Given the description of an element on the screen output the (x, y) to click on. 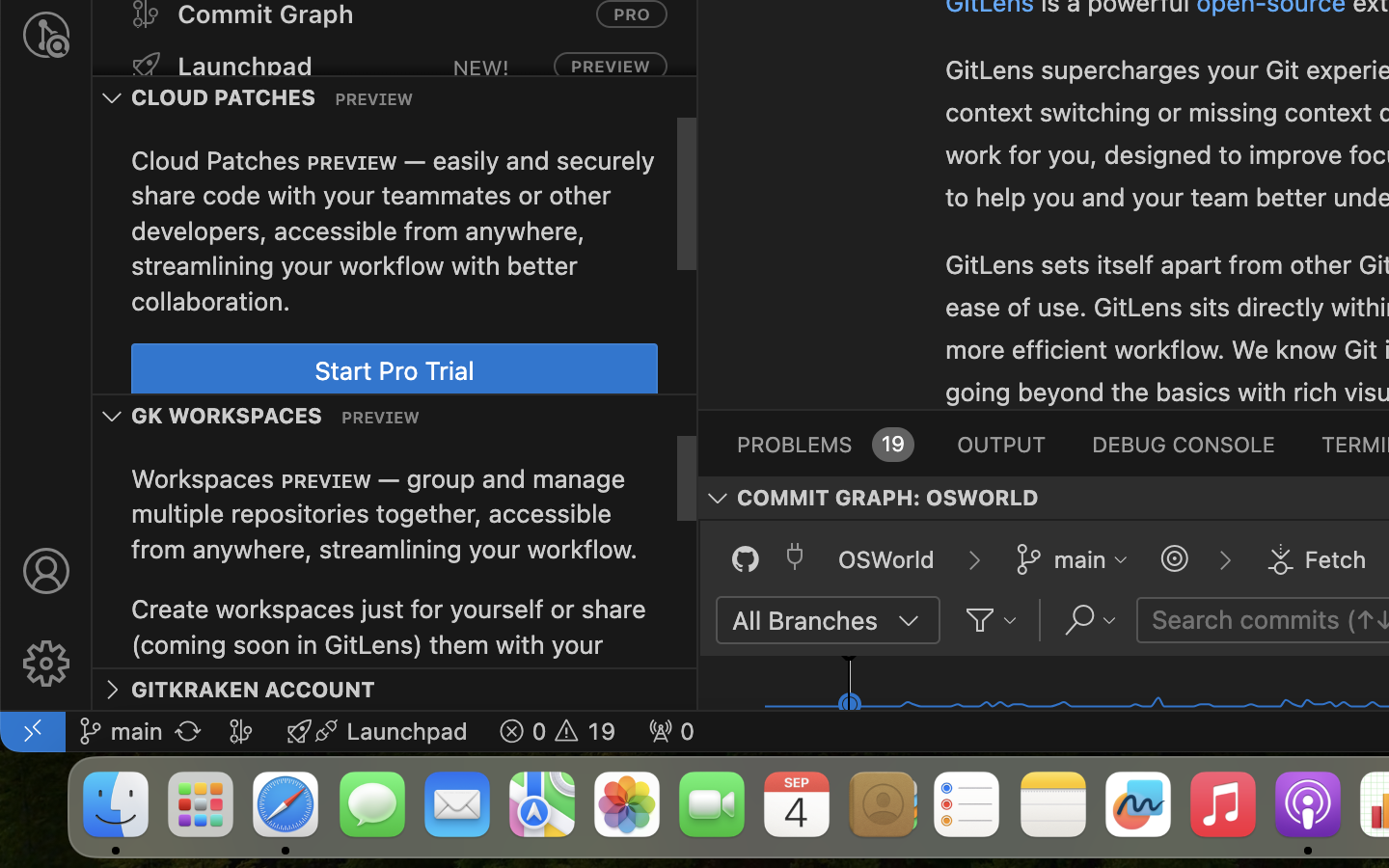
COMMIT GRAPH: OSWORLD Element type: AXStaticText (887, 498)
0 DEBUG CONSOLE Element type: AXRadioButton (1183, 443)
19  0  Element type: AXButton (557, 730)
13 Element type: AXStaticText (788, 351)
Supercharged Element type: AXStaticText (970, 351)
